Given the description of an element on the screen output the (x, y) to click on. 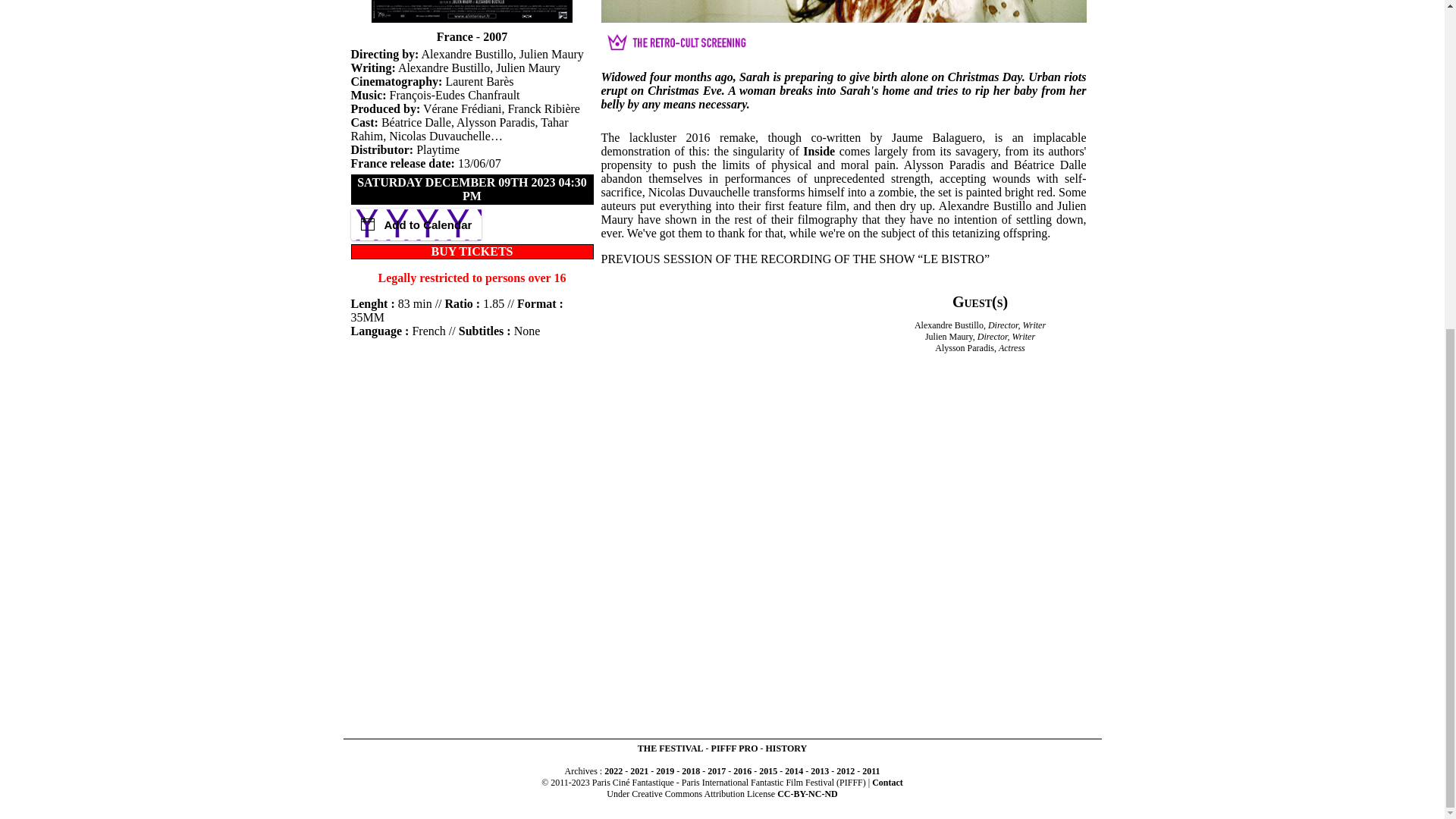
Contact (887, 782)
2022 (613, 770)
2018 (690, 770)
BUY TICKETS (471, 250)
SATURDAY DECEMBER 09TH 2023 04:30 PM (471, 189)
2021 (638, 770)
2019 (665, 770)
2011 (870, 770)
HISTORY (785, 747)
CC-BY-NC-ND (807, 793)
2015 (767, 770)
PIFFF PRO (734, 747)
2012 (844, 770)
2014 (793, 770)
THE FESTIVAL (670, 747)
